Given the description of an element on the screen output the (x, y) to click on. 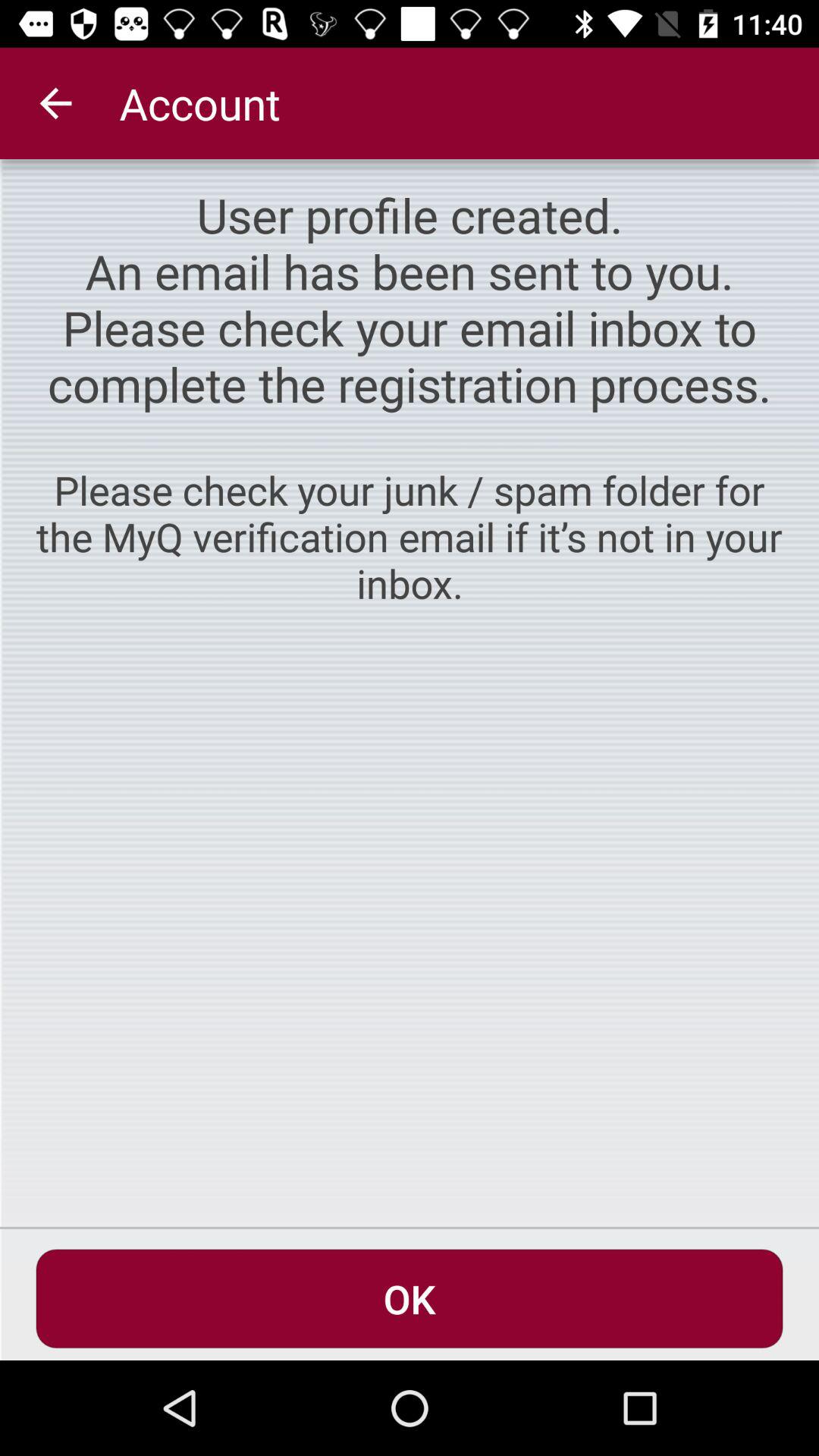
tap item above the user profile created icon (55, 103)
